Given the description of an element on the screen output the (x, y) to click on. 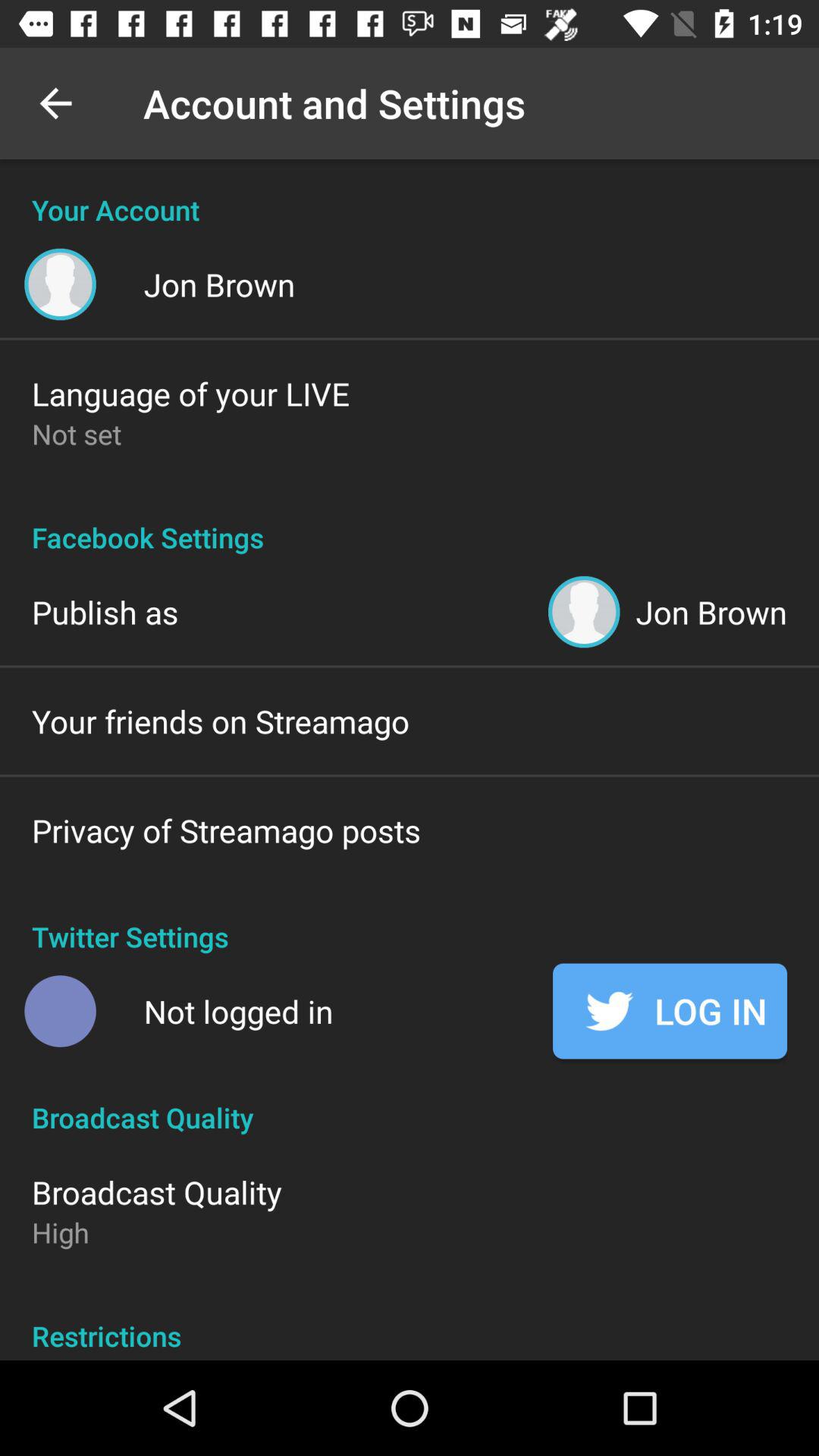
press the icon below publish as icon (220, 720)
